Given the description of an element on the screen output the (x, y) to click on. 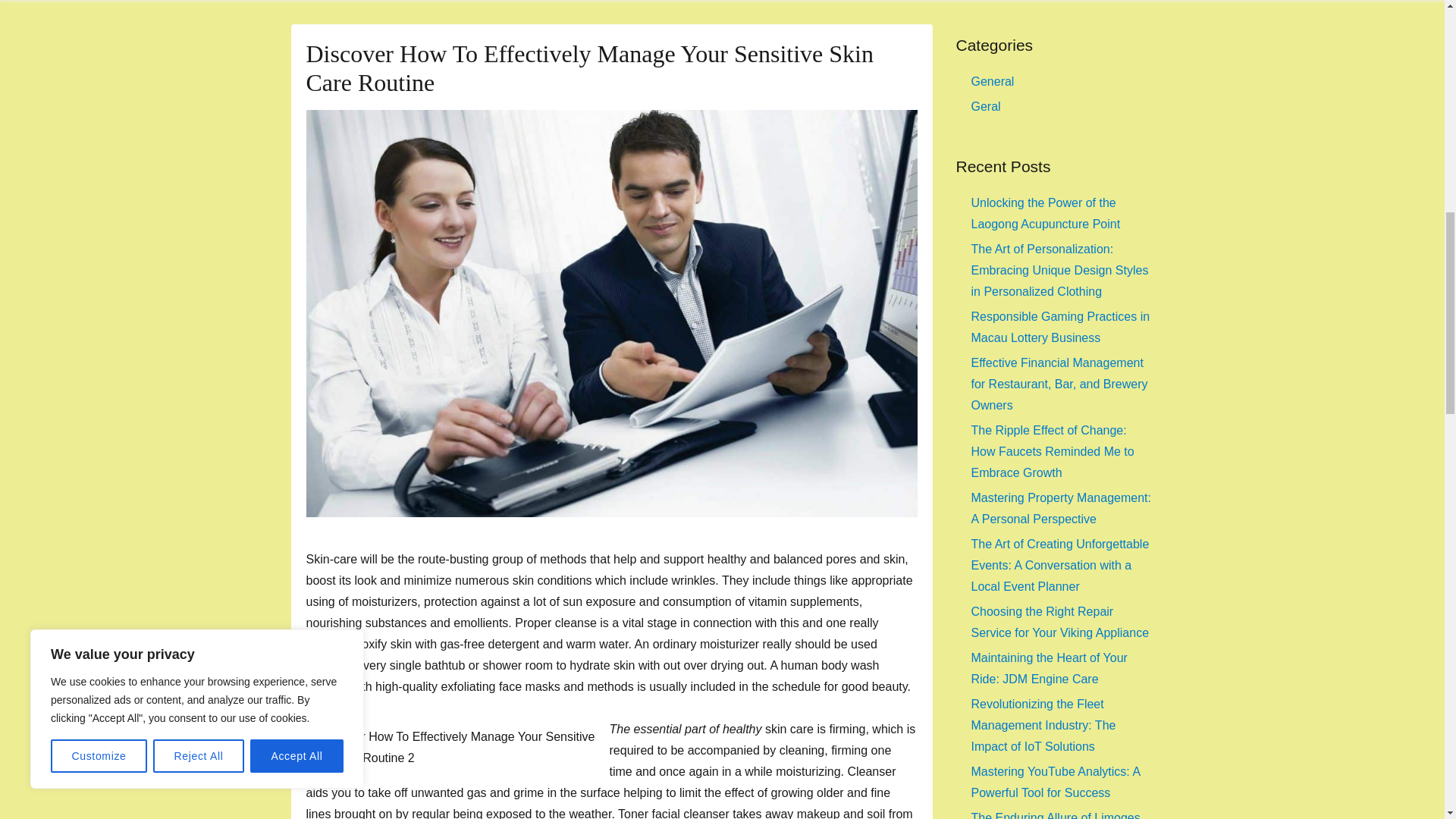
Unlocking the Power of the Laogong Acupuncture Point (1045, 213)
Responsible Gaming Practices in Macau Lottery Business (1060, 326)
Geral (985, 106)
General (992, 81)
